Given the description of an element on the screen output the (x, y) to click on. 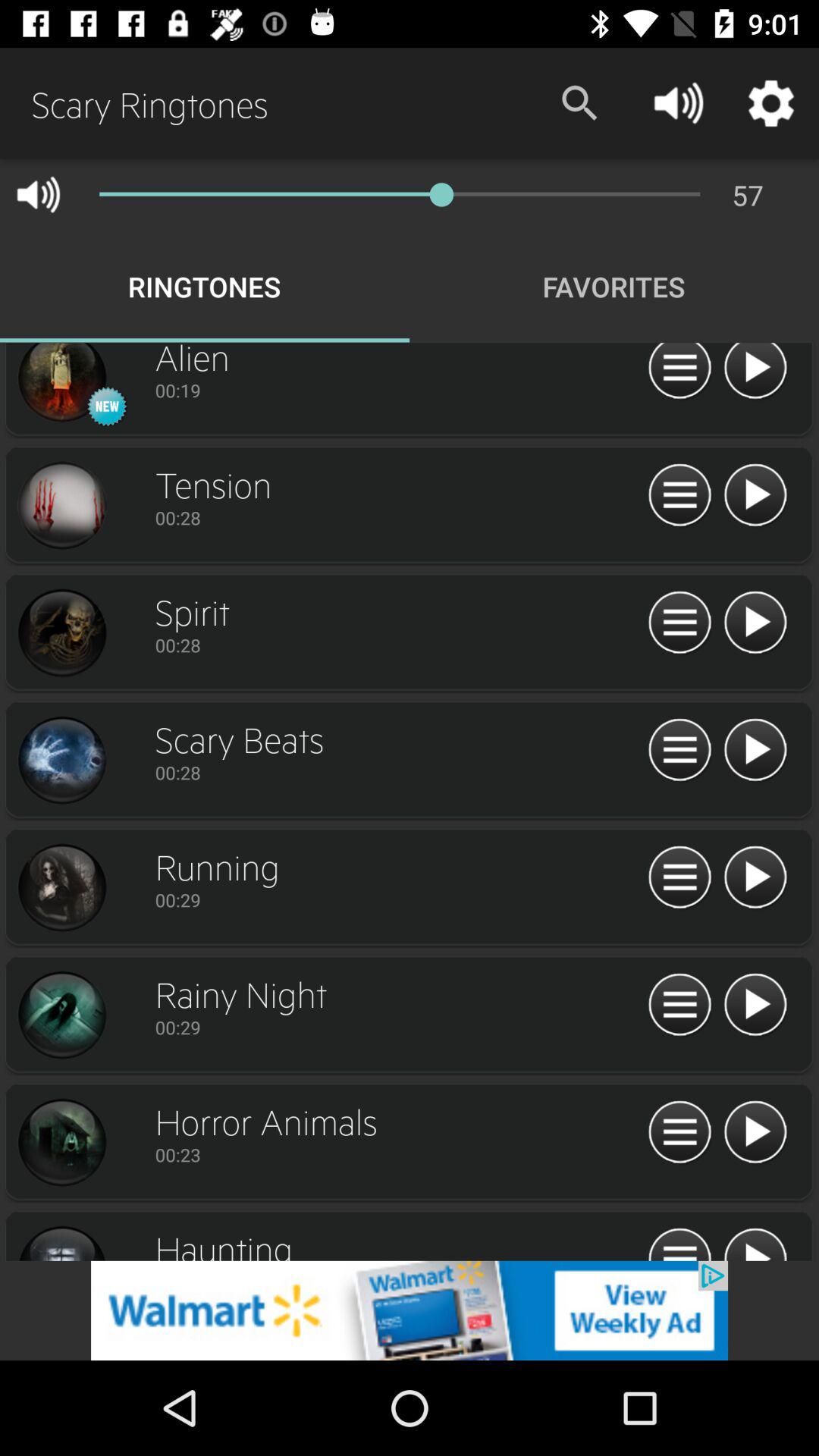
insert into playlist (679, 877)
